Given the description of an element on the screen output the (x, y) to click on. 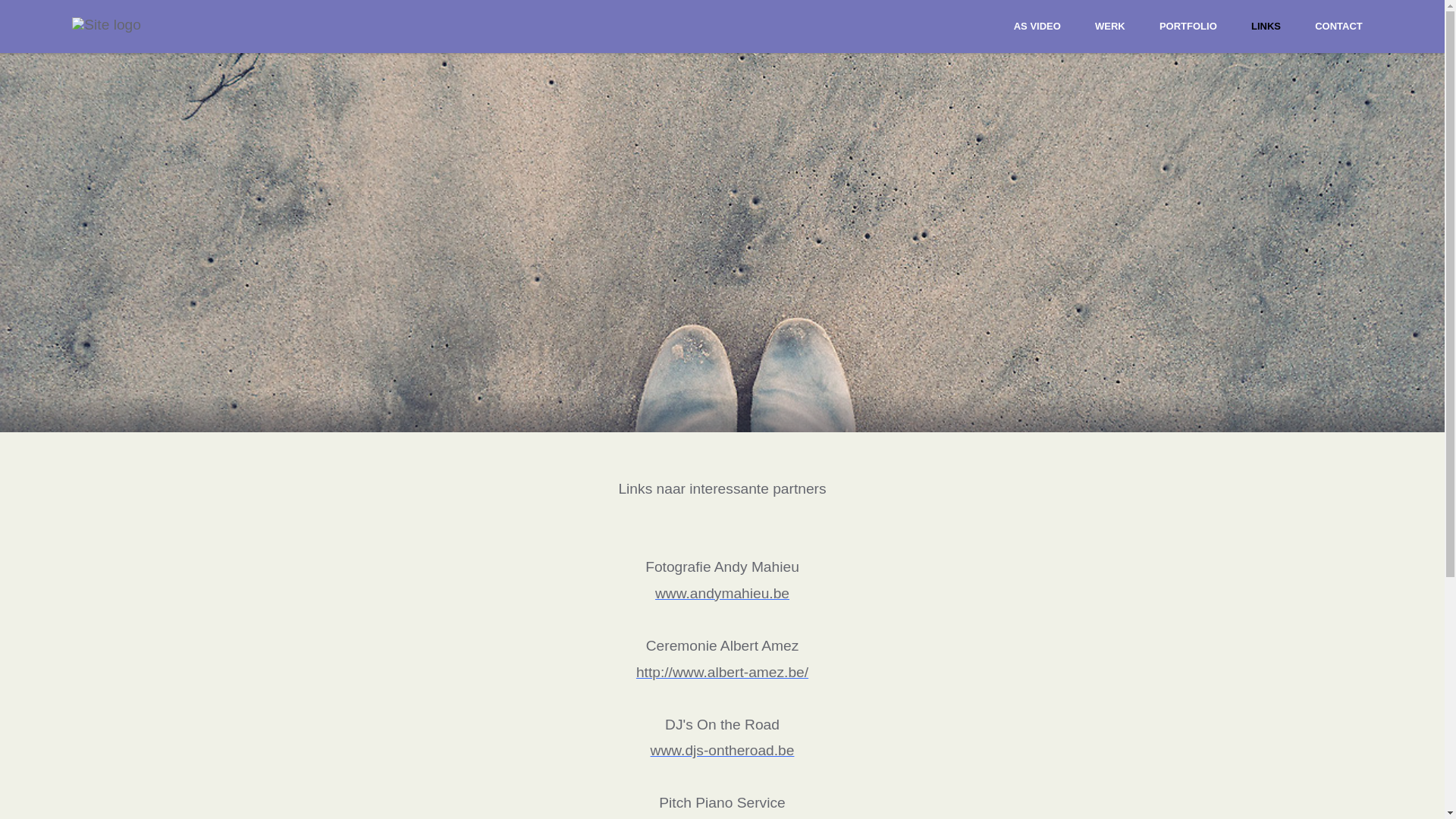
www.djs-ontheroad.be Element type: text (722, 750)
AS VIDEO Element type: text (1037, 25)
LINKS Element type: text (1265, 25)
http://www.albert-amez.be/ Element type: text (722, 672)
www.andymahieu.be Element type: text (722, 593)
PORTFOLIO Element type: text (1187, 25)
CONTACT Element type: text (1338, 25)
WERK Element type: text (1110, 25)
